Given the description of an element on the screen output the (x, y) to click on. 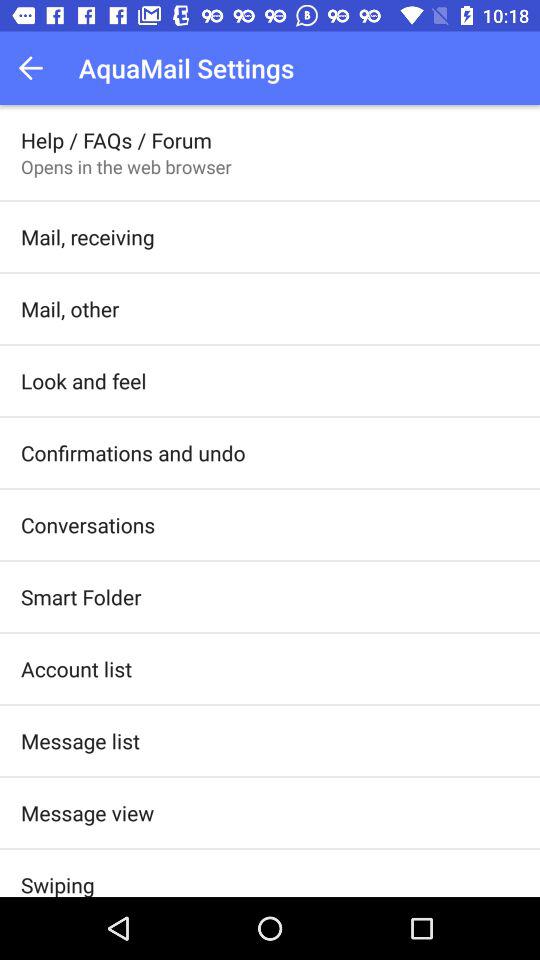
jump to help / faqs / forum icon (116, 139)
